Given the description of an element on the screen output the (x, y) to click on. 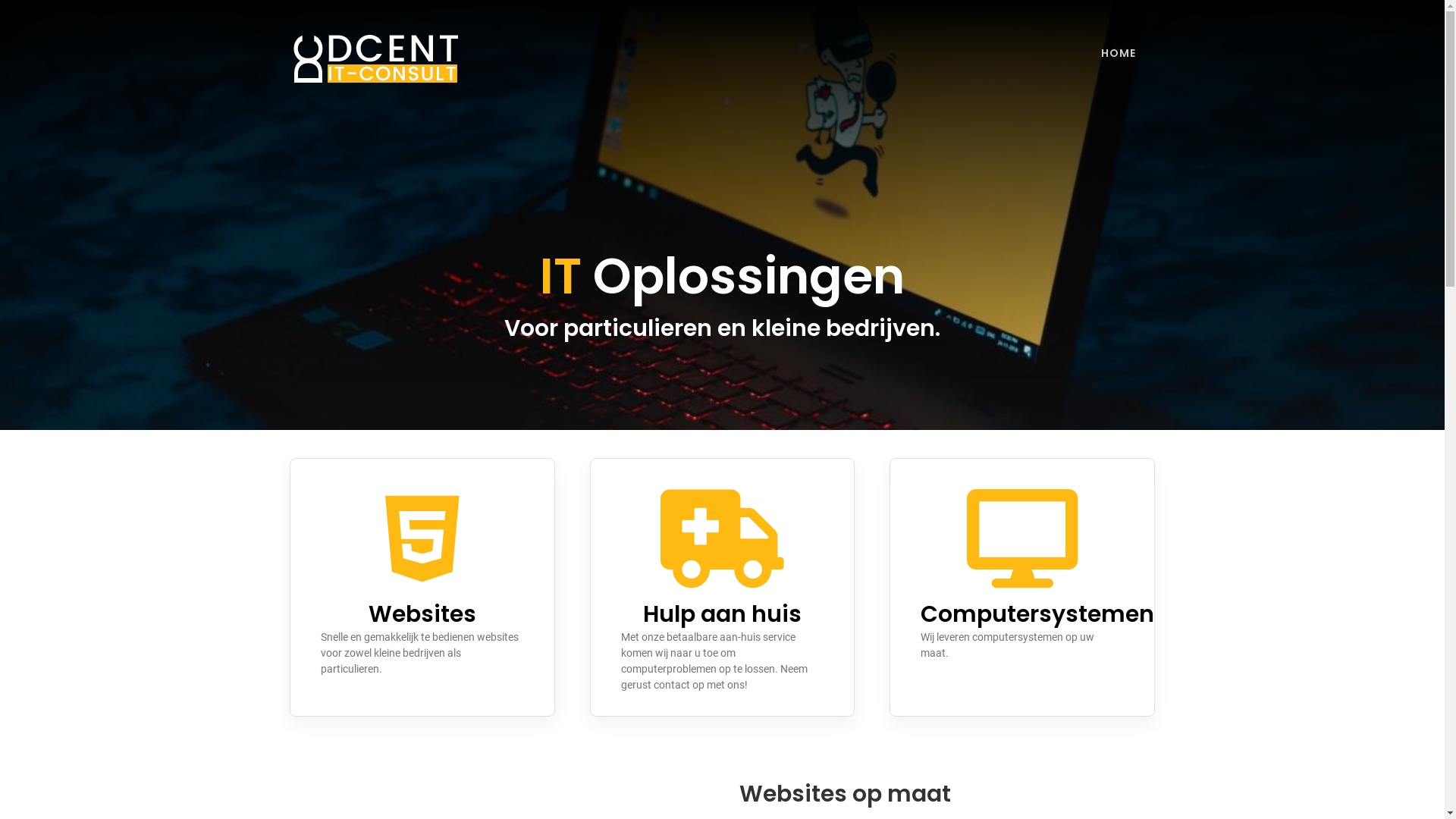
HOME Element type: text (1118, 53)
